Given the description of an element on the screen output the (x, y) to click on. 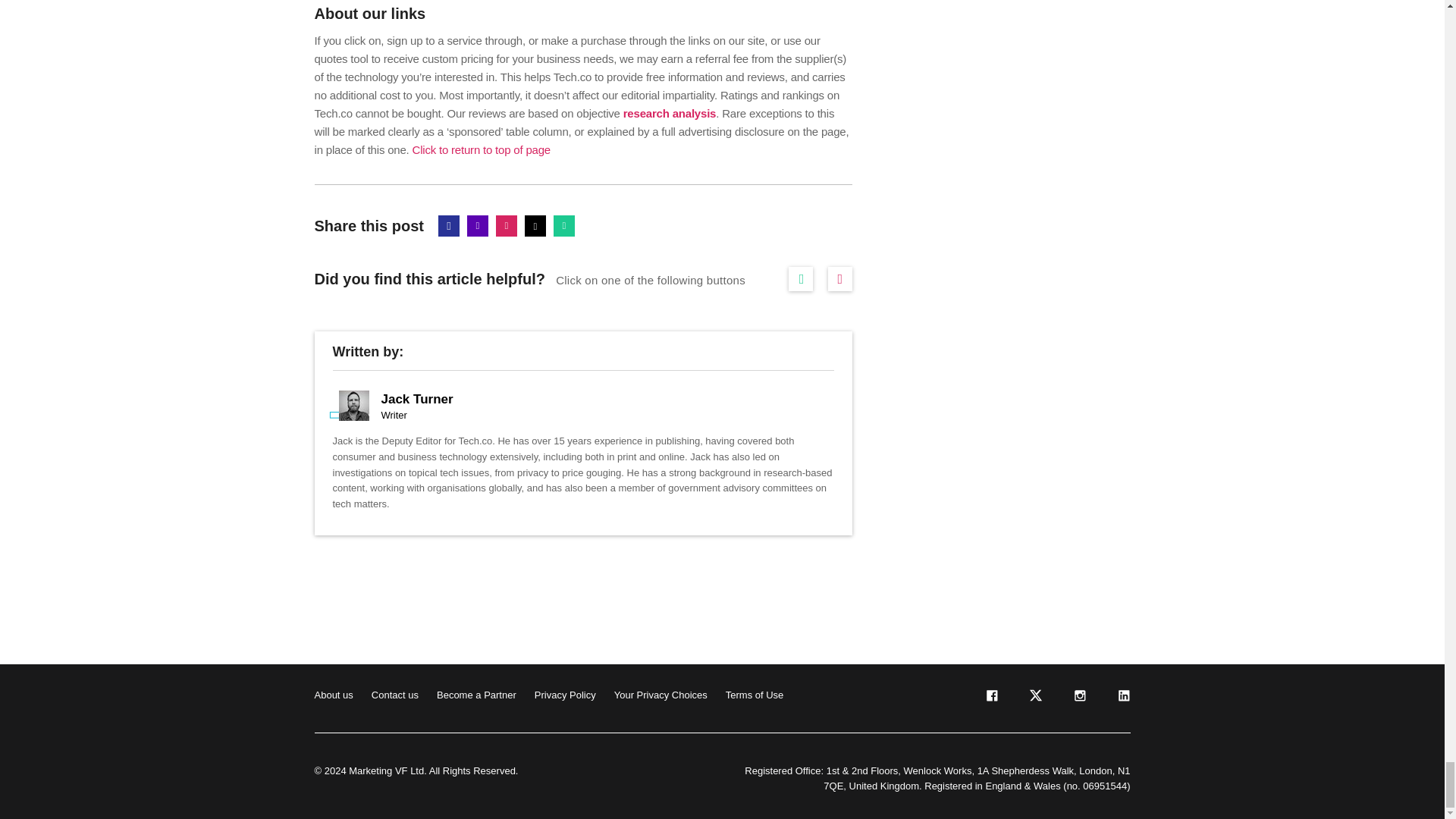
linkedin (1122, 698)
instagram (1078, 698)
Twitter-x (535, 225)
twitter-x (1034, 698)
Linkedin (477, 225)
Facebook (449, 225)
Whatsapp (564, 225)
Flipboard (506, 225)
facebook (990, 698)
